Given the description of an element on the screen output the (x, y) to click on. 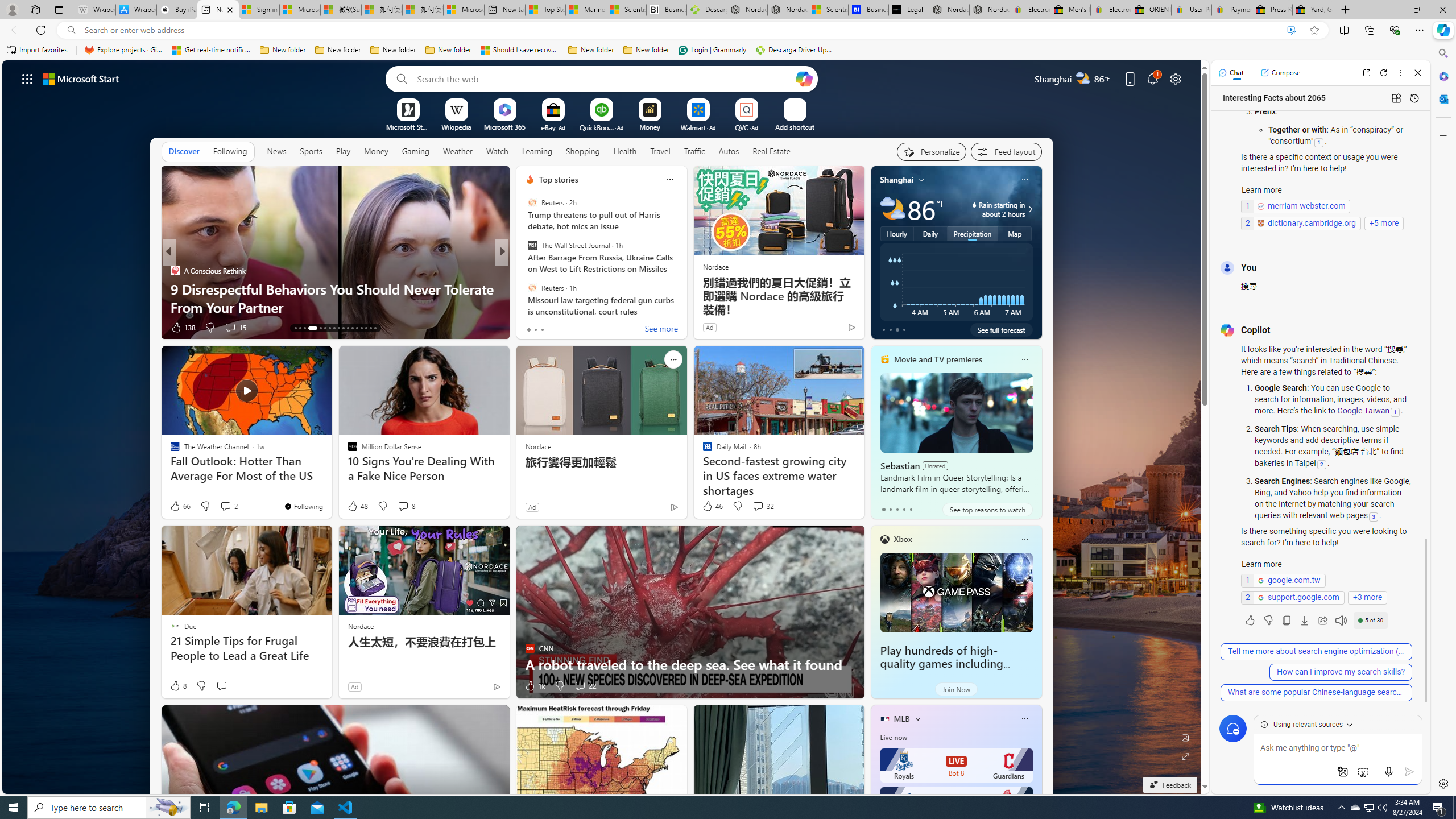
SlashGear (524, 288)
Join Now (955, 689)
View comments 4 Comment (580, 327)
View comments 8 Comment (403, 505)
View comments 35 Comment (576, 327)
30 Outdated Things Baby Boomers Still Think Are Cool (684, 298)
View comments 55 Comment (585, 327)
Add a site (793, 126)
View comments 35 Comment (582, 327)
66 Like (179, 505)
49 Like (530, 327)
